Given the description of an element on the screen output the (x, y) to click on. 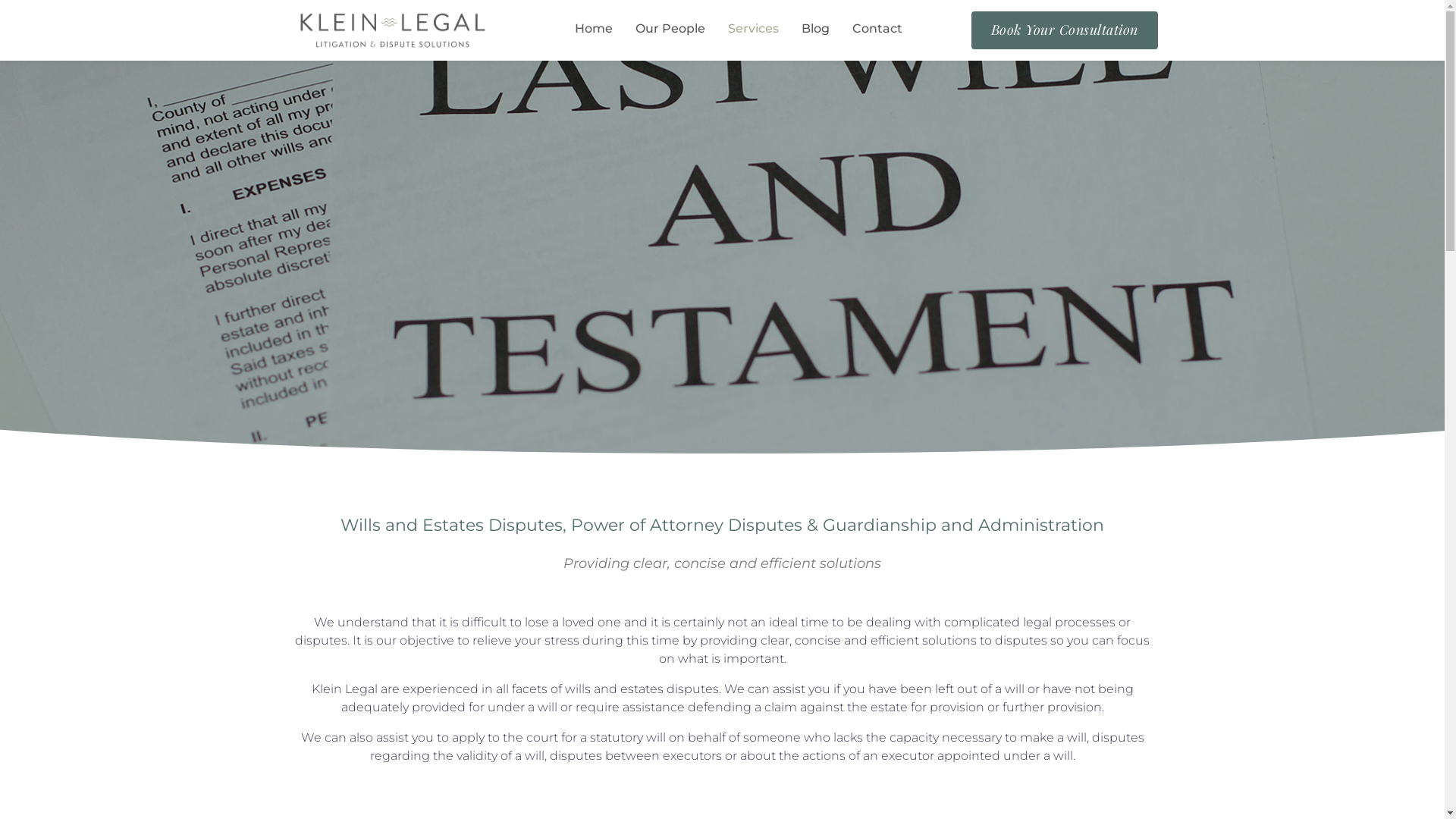
Blog Element type: text (815, 30)
Home Element type: text (593, 30)
Contact Element type: text (877, 30)
Book Your Consultation Element type: text (1064, 29)
Services Element type: text (753, 30)
Our People Element type: text (670, 30)
